Given the description of an element on the screen output the (x, y) to click on. 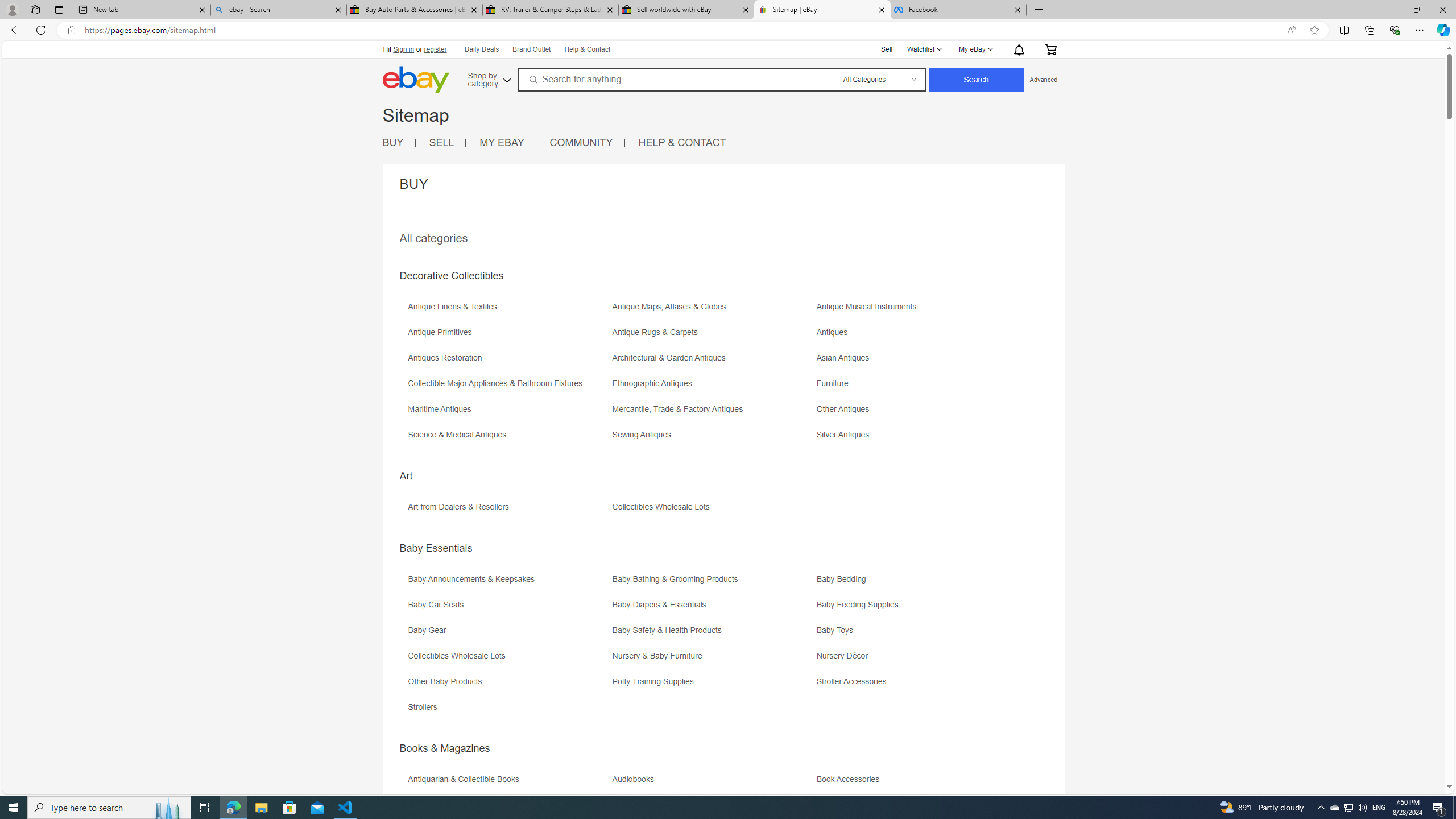
Brand Outlet (531, 49)
Ethnographic Antiques (654, 383)
Art from Dealers & Resellers (508, 510)
Baby Toys (837, 630)
eBay Logo (453, 96)
Sign in (403, 49)
Close tab (1017, 9)
Notification (1019, 49)
Art from Dealers & Resellers (461, 506)
Antique Rugs & Carpets (657, 332)
Baby Bedding (917, 582)
Help & Contact (587, 49)
register (434, 49)
Furniture (917, 387)
